Given the description of an element on the screen output the (x, y) to click on. 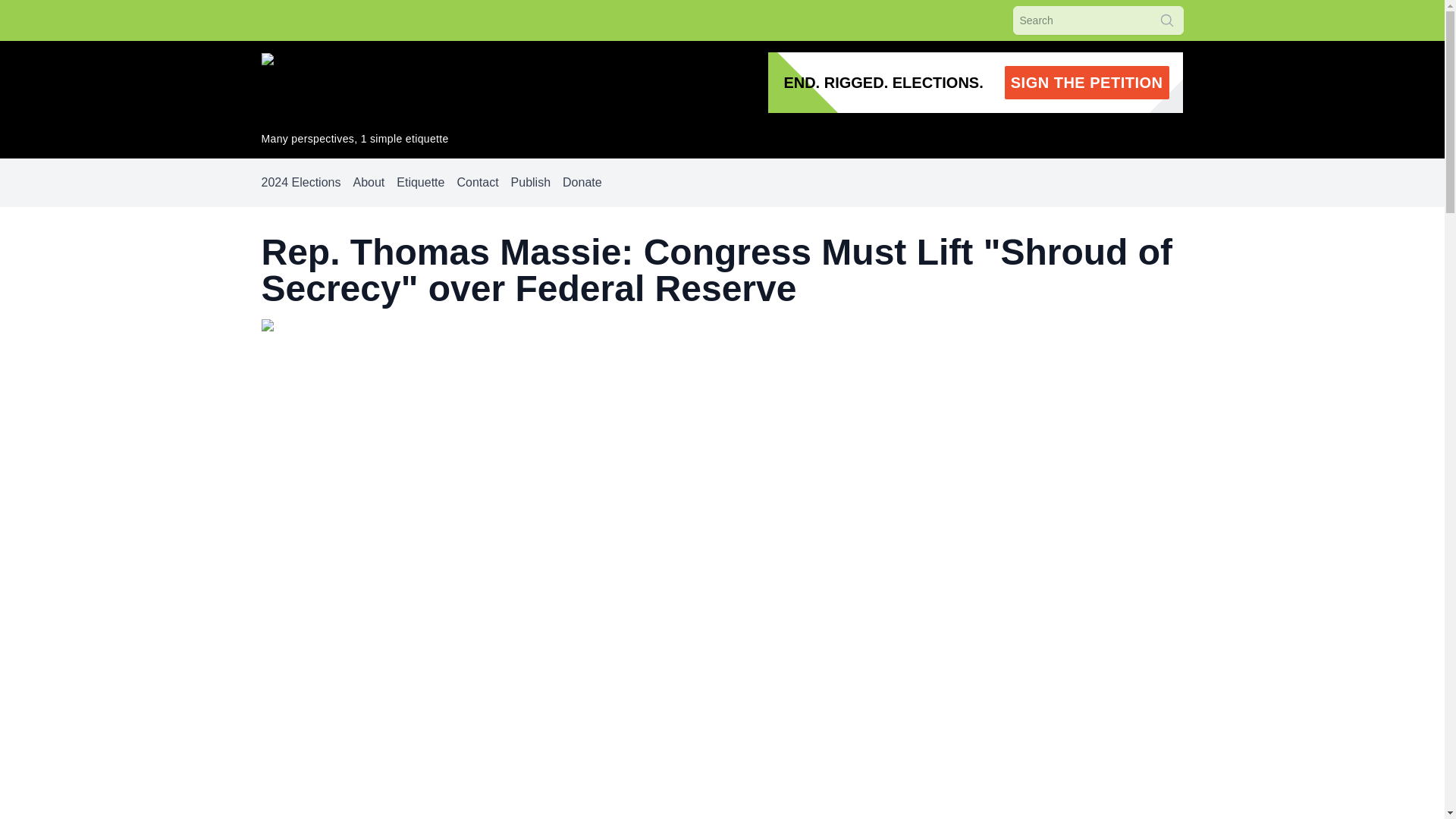
Publish (530, 182)
Contact (477, 182)
Donate (582, 182)
2024 Elections (300, 182)
Etiquette (420, 182)
About (368, 182)
